Given the description of an element on the screen output the (x, y) to click on. 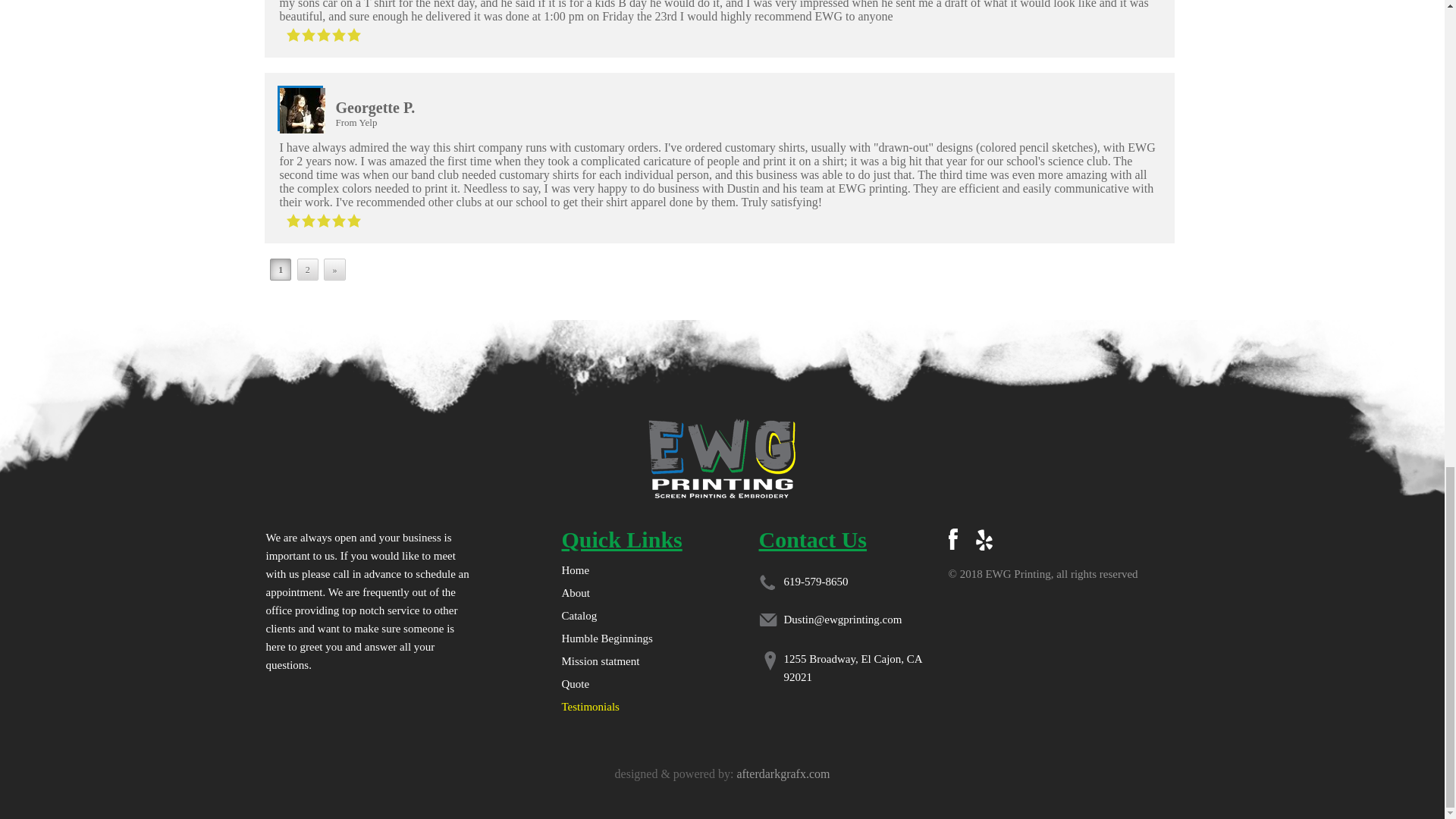
About (574, 592)
Mission statment (599, 661)
Catalog (578, 615)
2 (307, 269)
Page 2 (307, 269)
Quote (574, 684)
Humble Beginnings (606, 638)
Home (574, 570)
619-579-8650 (816, 581)
Testimonials (589, 706)
afterdarkgrafx.com (782, 773)
